Given the description of an element on the screen output the (x, y) to click on. 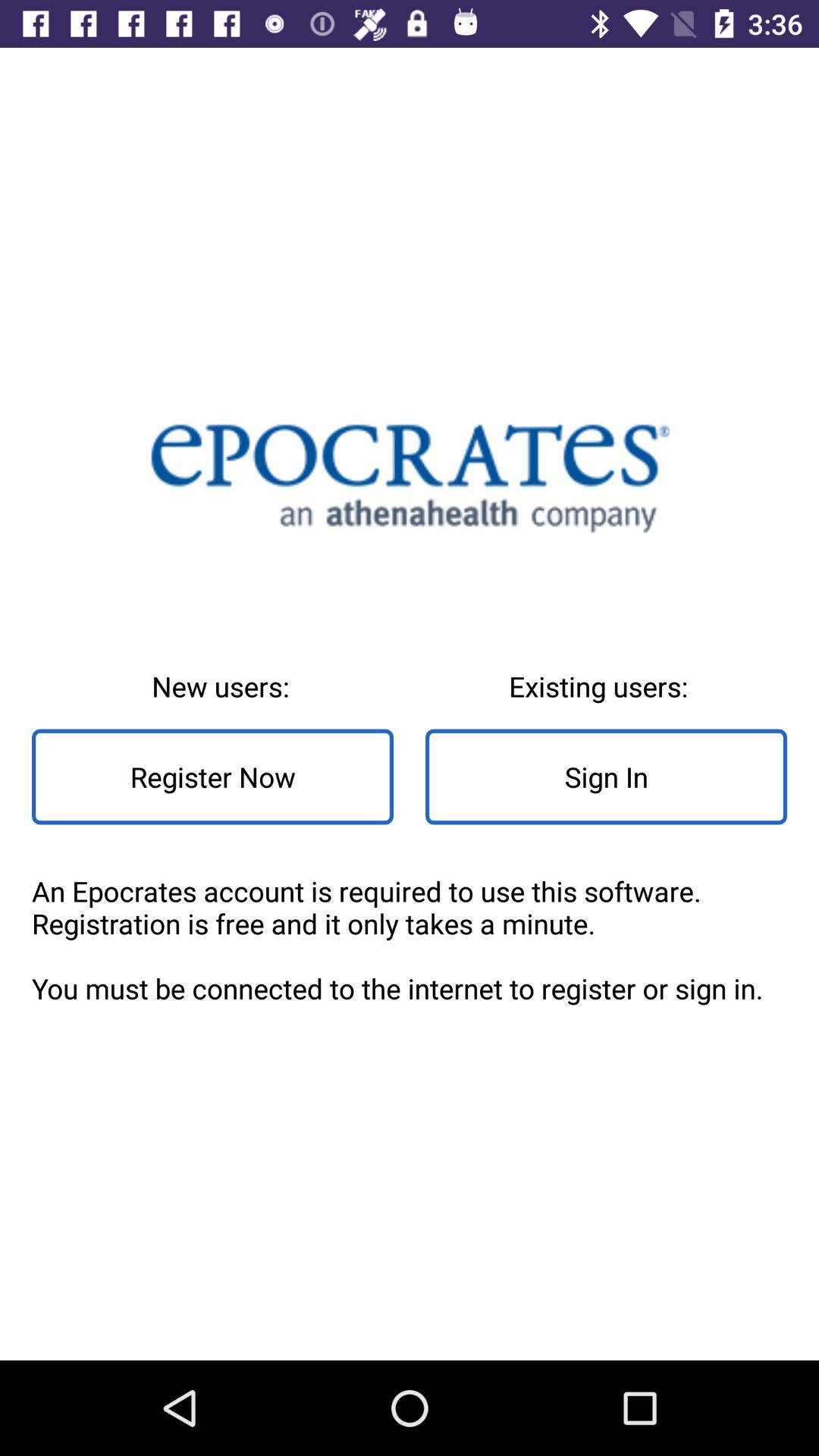
flip to register now (212, 776)
